Given the description of an element on the screen output the (x, y) to click on. 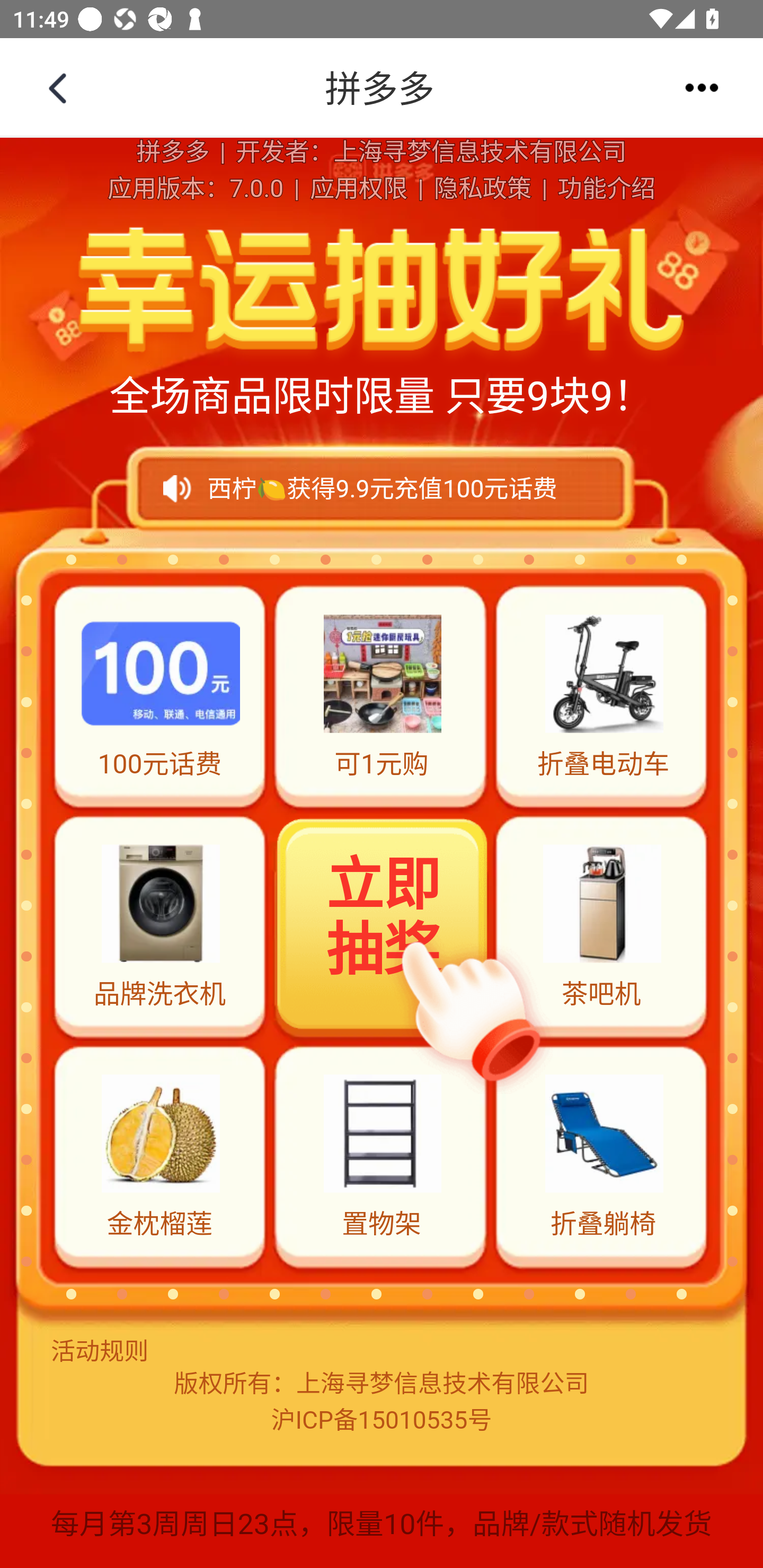
更多 (701, 86)
立即抽奖 (382, 924)
活动规则 (381, 1351)
